Given the description of an element on the screen output the (x, y) to click on. 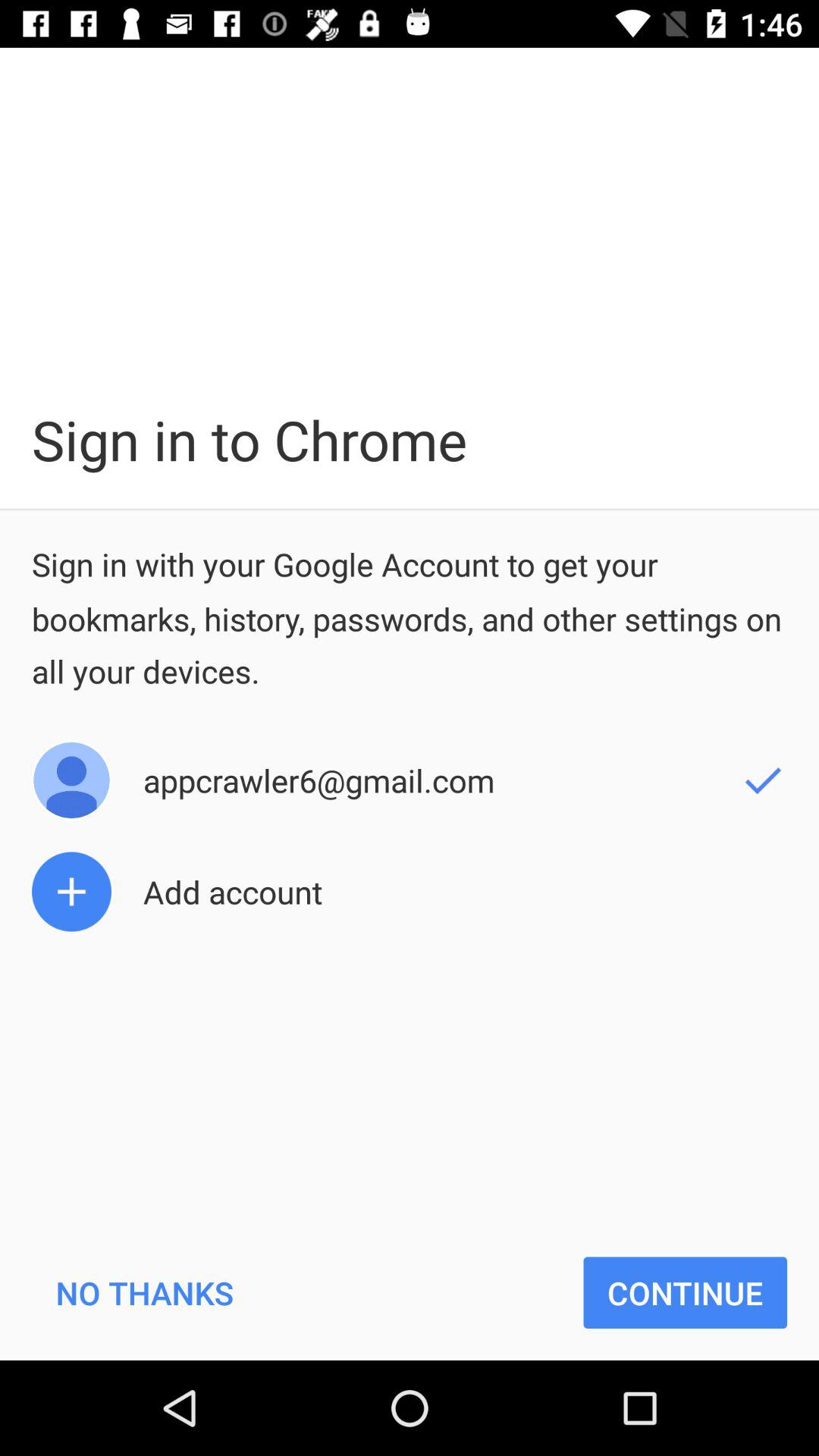
turn off icon next to continue (144, 1292)
